Given the description of an element on the screen output the (x, y) to click on. 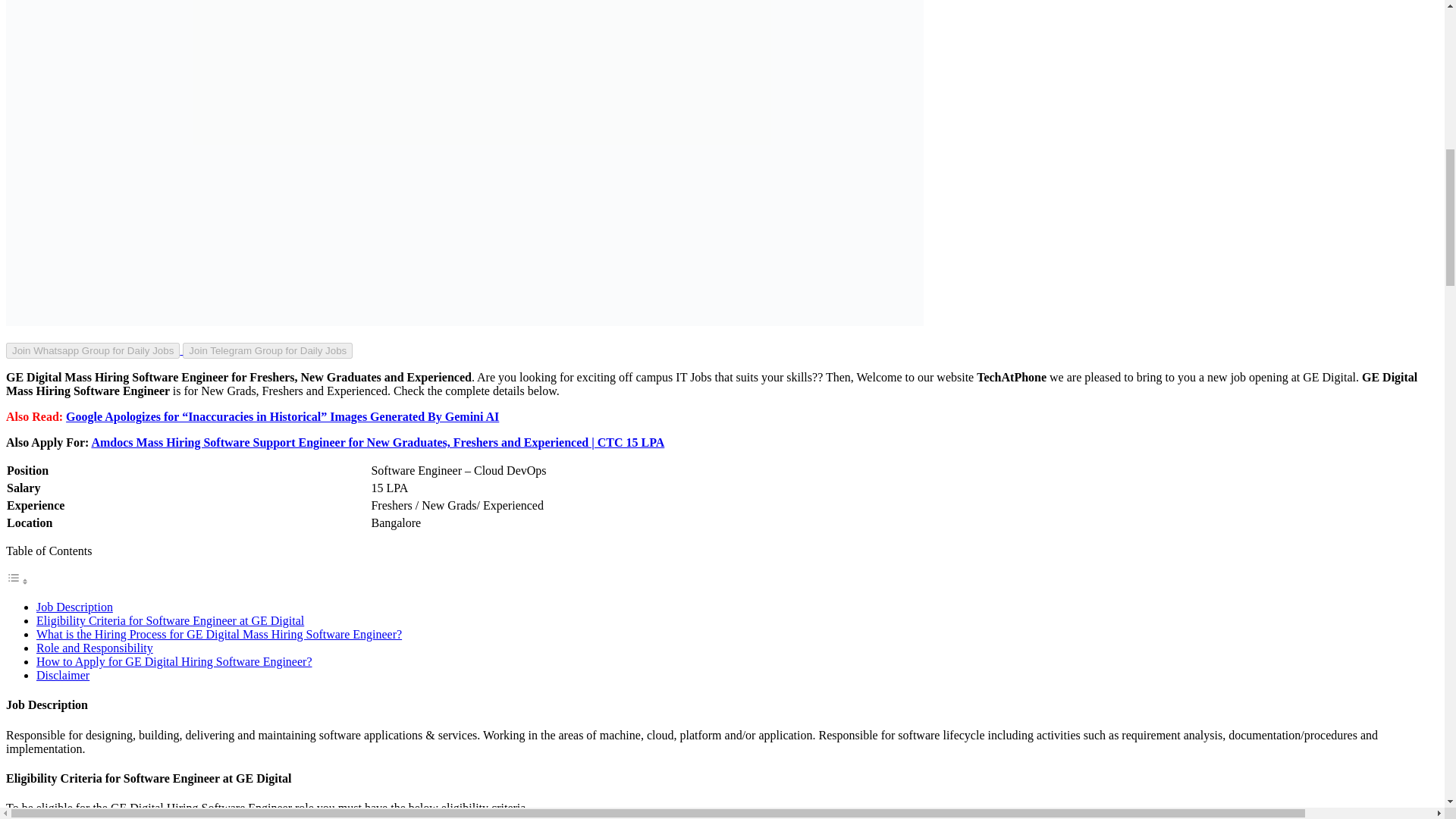
Disclaimer (62, 675)
Join Whatsapp Group for Daily Jobs (94, 349)
Disclaimer (62, 675)
How to Apply for GE Digital Hiring Software Engineer? (173, 661)
Role and Responsibility (94, 647)
Join Whatsapp Group for Daily Jobs (92, 350)
Role and Responsibility  (94, 647)
Job Description (74, 606)
How to Apply for GE Digital Hiring Software Engineer? (173, 661)
Join Telegram Group for Daily Jobs (267, 350)
Job Description (74, 606)
Eligibility Criteria for Software Engineer at GE Digital (170, 620)
Join Telegram Group for Daily Jobs (267, 349)
